Given the description of an element on the screen output the (x, y) to click on. 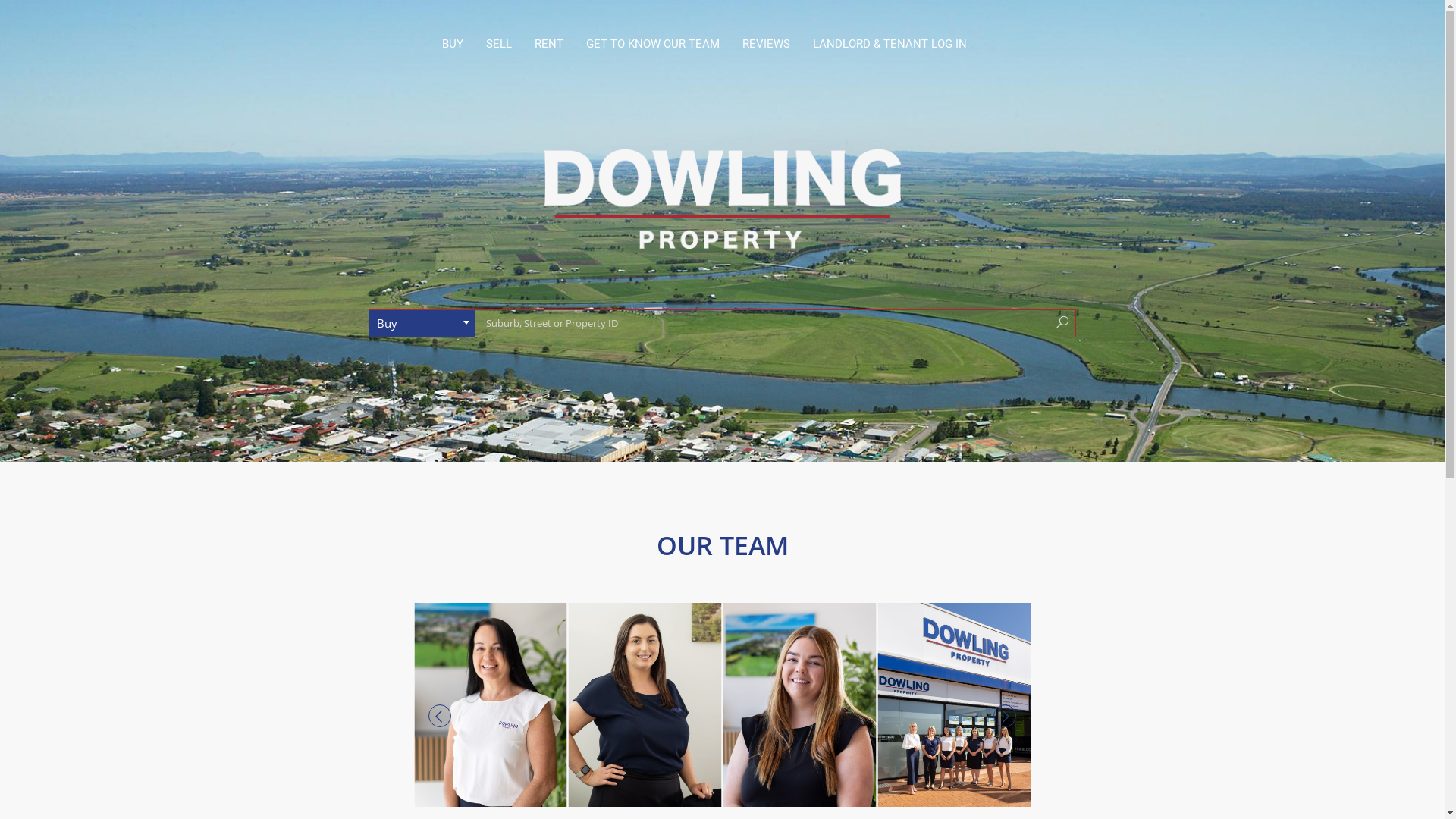
RENT Element type: text (548, 44)
Renae Hill Element type: hover (798, 704)
Tia Langdon Element type: hover (335, 704)
Jodie Hitchcock Element type: hover (644, 704)
BUY Element type: text (452, 44)
SELL Element type: text (498, 44)
REVIEWS Element type: text (766, 44)
GET TO KNOW OUR TEAM Element type: text (652, 44)
LANDLORD & TENANT LOG IN Element type: text (888, 44)
Rental Department Element type: hover (953, 704)
Sandy Ward Element type: hover (490, 704)
